Given the description of an element on the screen output the (x, y) to click on. 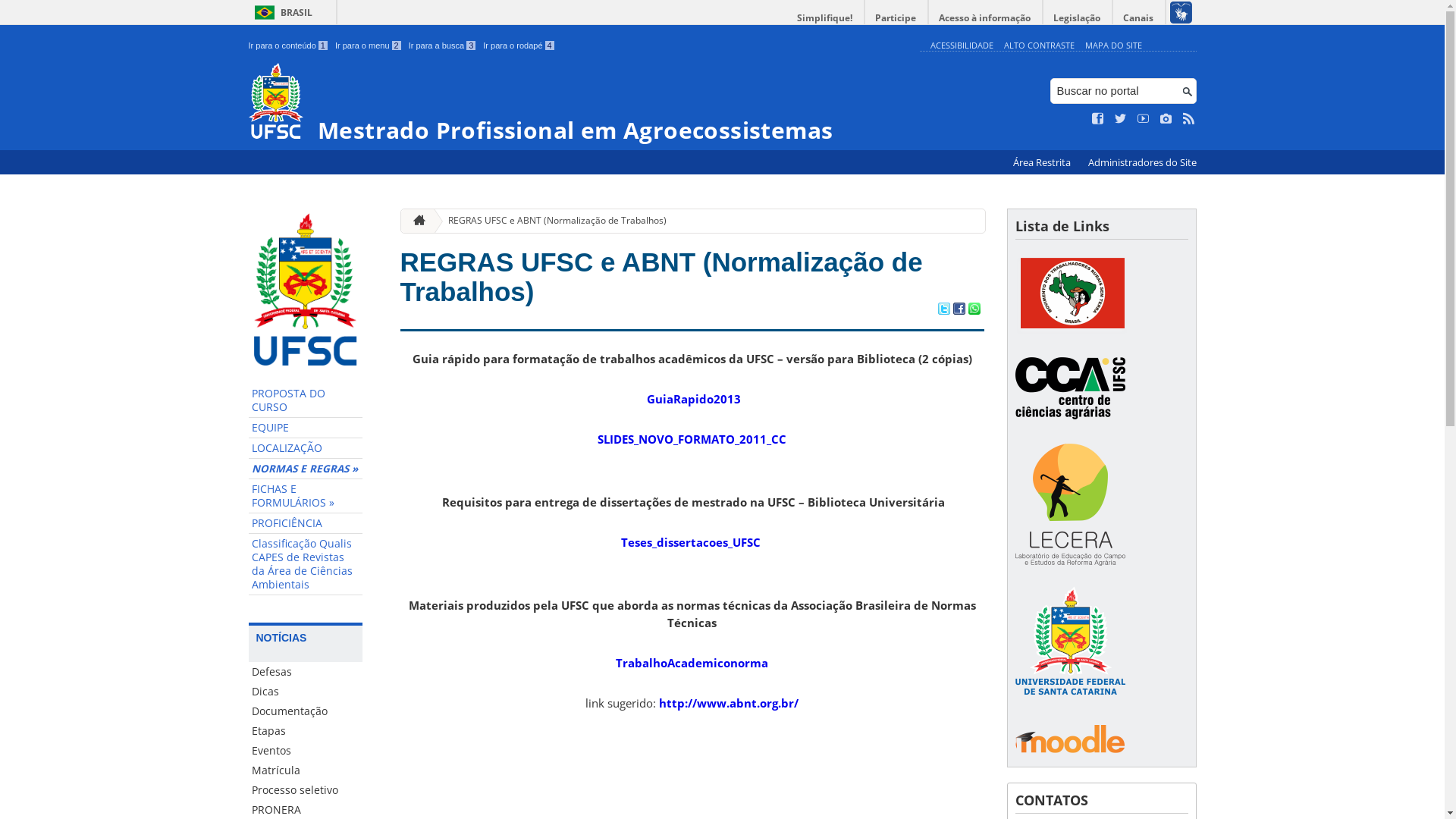
Teses_dissertacoes_UFSC Element type: text (689, 541)
Compartilhar no WhatsApp Element type: hover (973, 309)
Simplifique! Element type: text (825, 18)
Etapas Element type: text (305, 730)
Participe Element type: text (895, 18)
Ir para a busca 3 Element type: text (442, 45)
MAPA DO SITE Element type: text (1112, 44)
ACESSIBILIDADE Element type: text (960, 44)
Movimento dos Trabalhadores Rurais Sem Terra Element type: hover (1070, 330)
SLIDES_NOVO_FORMATO_2011_CC Element type: text (691, 438)
Processo seletivo Element type: text (305, 790)
Movimento dos Trabalhadores Rurais Sem Terra Element type: hover (1070, 294)
Universidade Federal de Santa Catarina Element type: hover (1069, 706)
Ir para o menu 2 Element type: text (368, 45)
Compartilhar no Facebook Element type: hover (958, 309)
Eventos Element type: text (305, 750)
Administradores do Site Element type: text (1141, 162)
GuiaRapido2013 Element type: text (693, 398)
BRASIL Element type: text (280, 12)
Siga no Twitter Element type: hover (1120, 118)
Defesas Element type: text (305, 671)
http://www.abnt.org.br/ Element type: text (728, 702)
Curta no Facebook Element type: hover (1098, 118)
Canais Element type: text (1138, 18)
Veja no Instagram Element type: hover (1166, 118)
Dicas Element type: text (305, 691)
EQUIPE Element type: text (305, 427)
TrabalhoAcademiconorma Element type: text (691, 662)
Mestrado Profissional em Agroecossistemas Element type: text (580, 102)
Universidade Federal de Santa Catarina Element type: hover (1069, 643)
ALTO CONTRASTE Element type: text (1039, 44)
PROPOSTA DO CURSO Element type: text (305, 400)
Compartilhar no Twitter Element type: hover (943, 309)
